Given the description of an element on the screen output the (x, y) to click on. 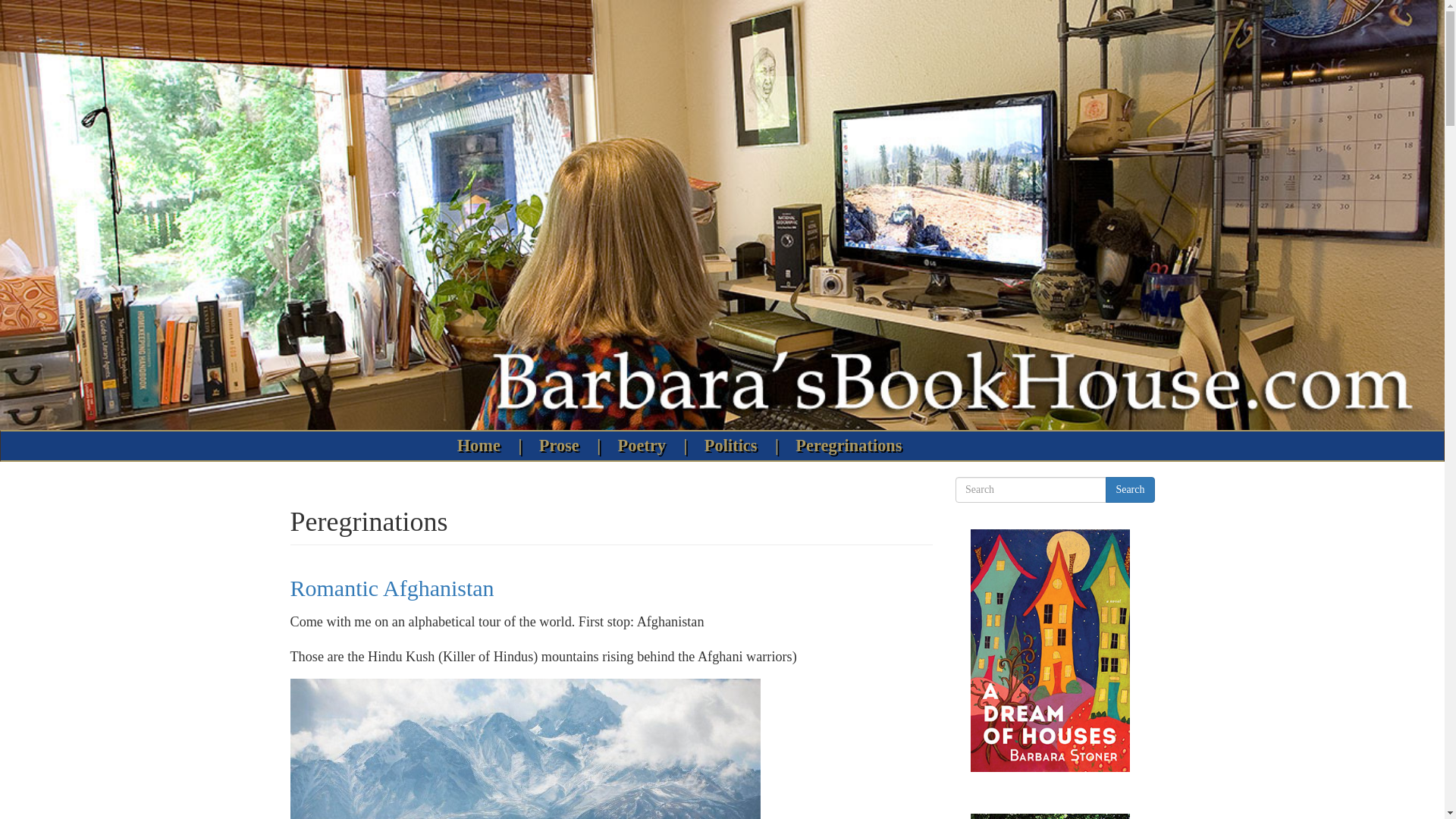
Politics (734, 445)
Home (481, 445)
Romantic Afghanistan (391, 587)
Poetry (645, 445)
Prose (563, 445)
Peregrinations (848, 445)
